Given the description of an element on the screen output the (x, y) to click on. 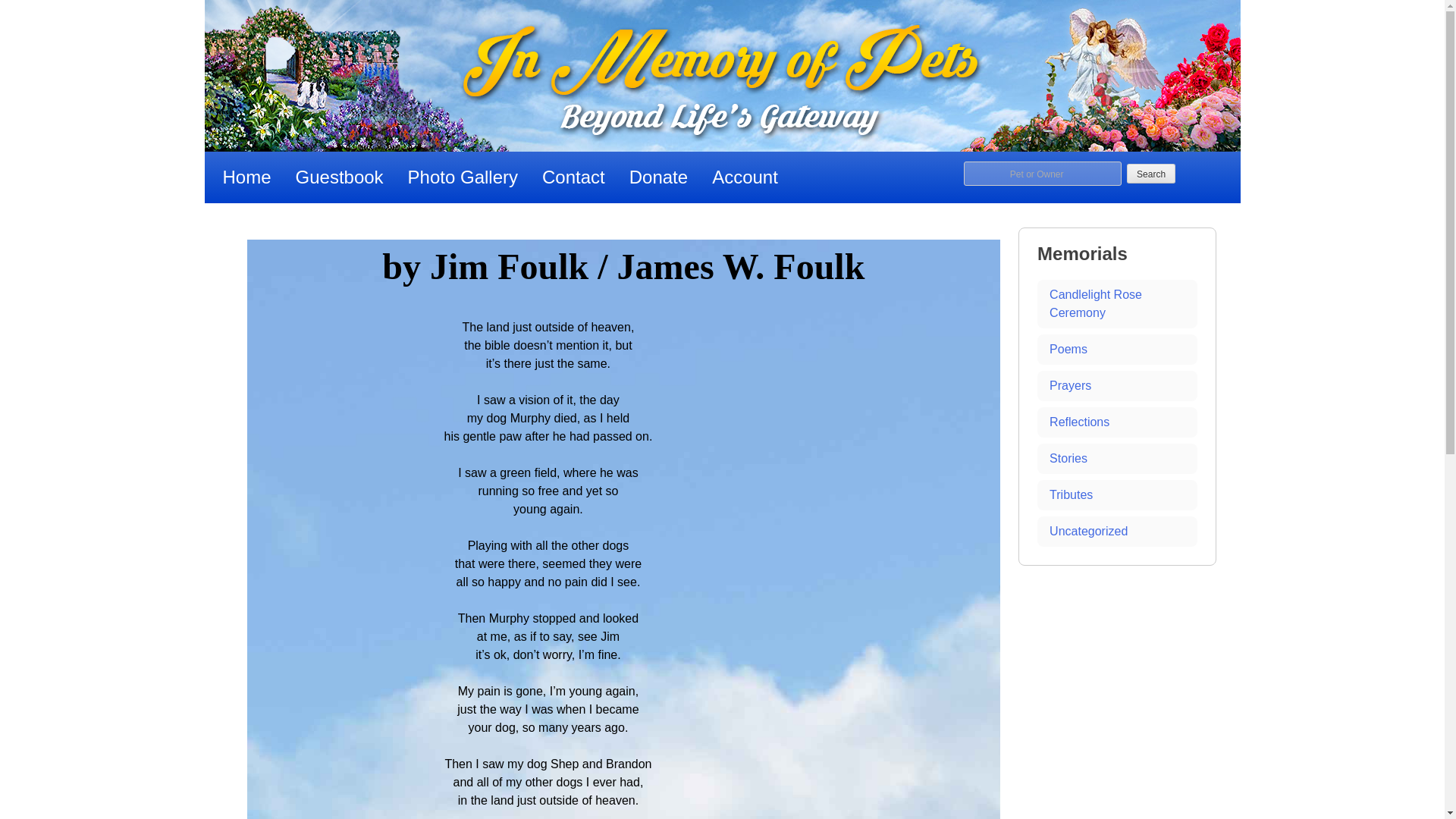
Donate (658, 177)
Search (1150, 173)
Tributes (1116, 494)
Contact (573, 177)
Search (1150, 173)
Candlelight Rose Ceremony (1116, 304)
Poems (1116, 349)
Home (247, 177)
Account (745, 177)
Uncategorized (1116, 531)
